Given the description of an element on the screen output the (x, y) to click on. 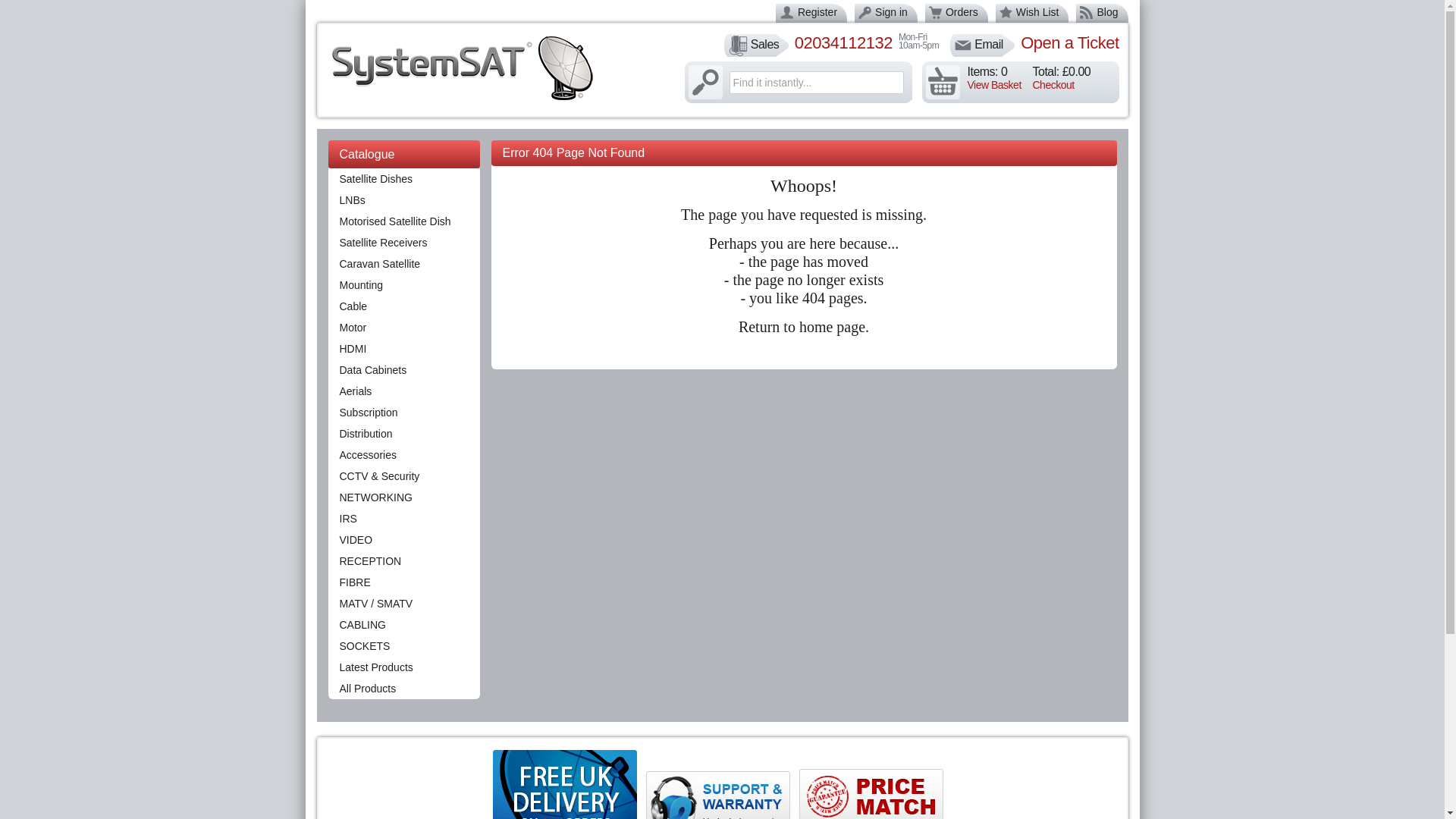
Sign in (891, 11)
SOCKETS (403, 645)
Satellite Receivers (403, 242)
CABLING (403, 624)
Aerials (403, 391)
VIDEO (403, 539)
Register (817, 11)
NETWORKING (403, 496)
HDMI (403, 348)
Return to home page (801, 328)
Latest Products (403, 667)
FIBRE (403, 581)
LNBs (403, 199)
